Given the description of an element on the screen output the (x, y) to click on. 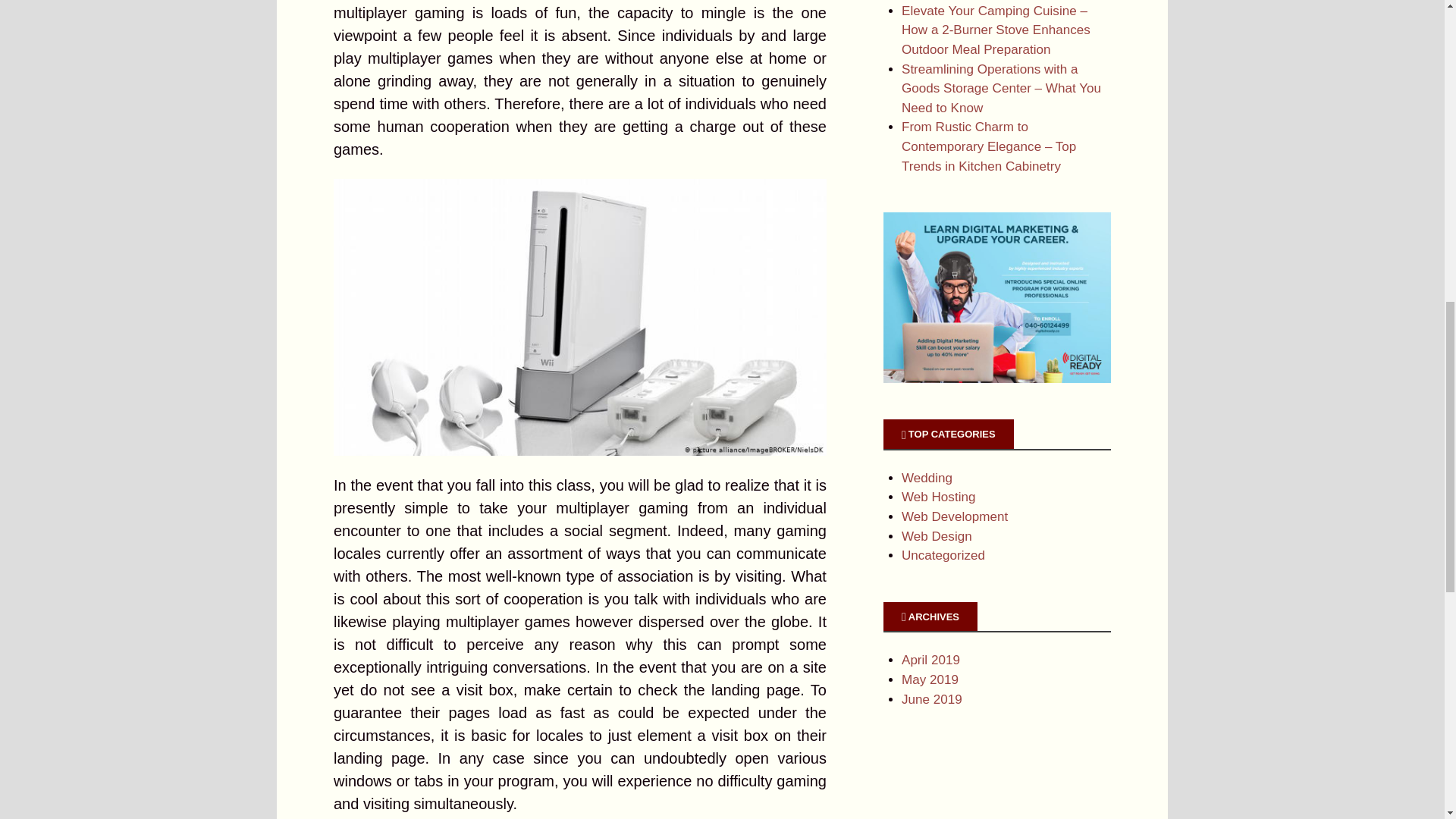
Web Development (954, 516)
Wedding (926, 477)
Web Design (936, 536)
Uncategorized (943, 554)
Web Hosting (938, 496)
